Given the description of an element on the screen output the (x, y) to click on. 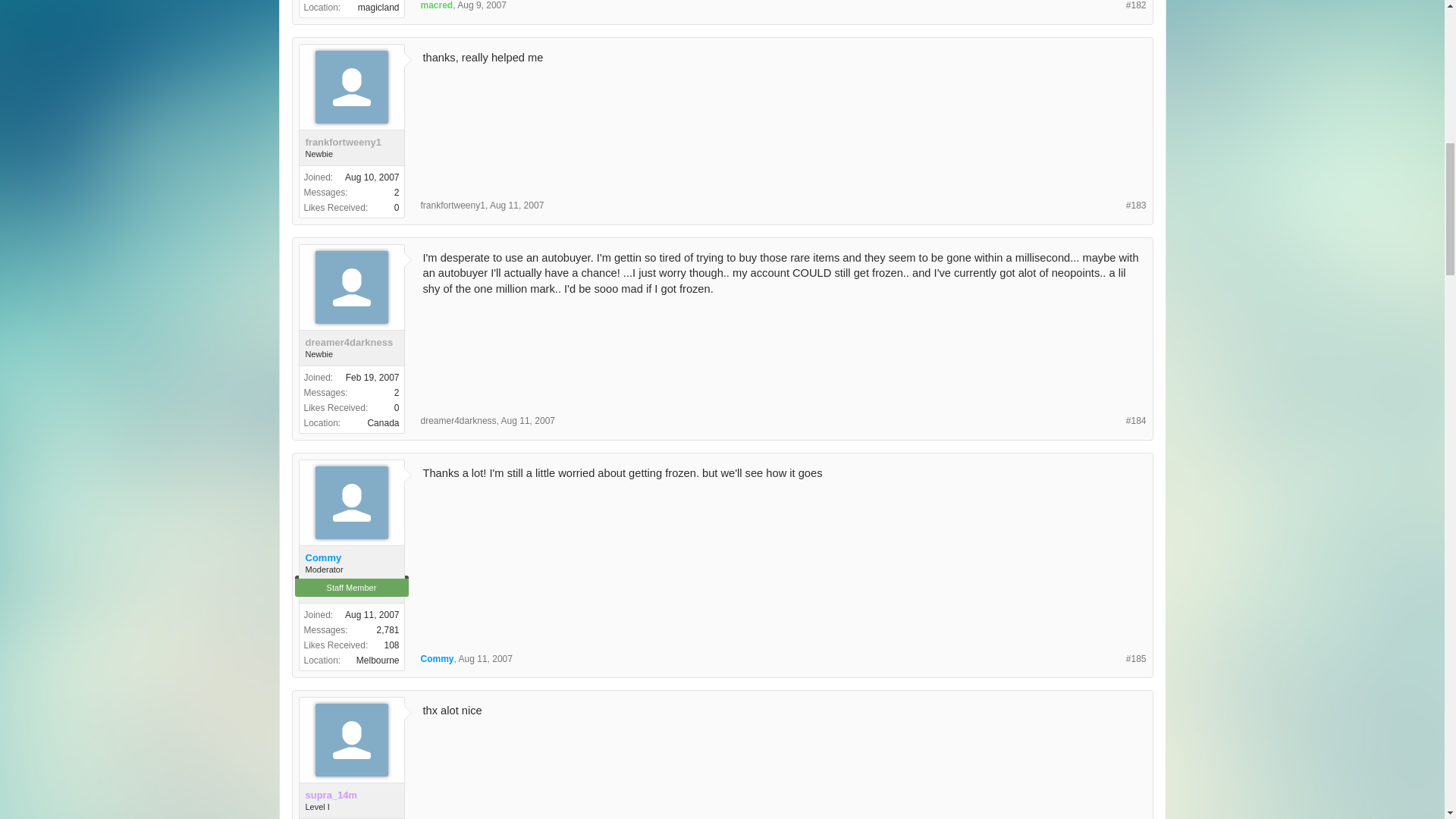
Permalink (481, 5)
Permalink (1136, 205)
Permalink (516, 204)
Permalink (1136, 5)
